Given the description of an element on the screen output the (x, y) to click on. 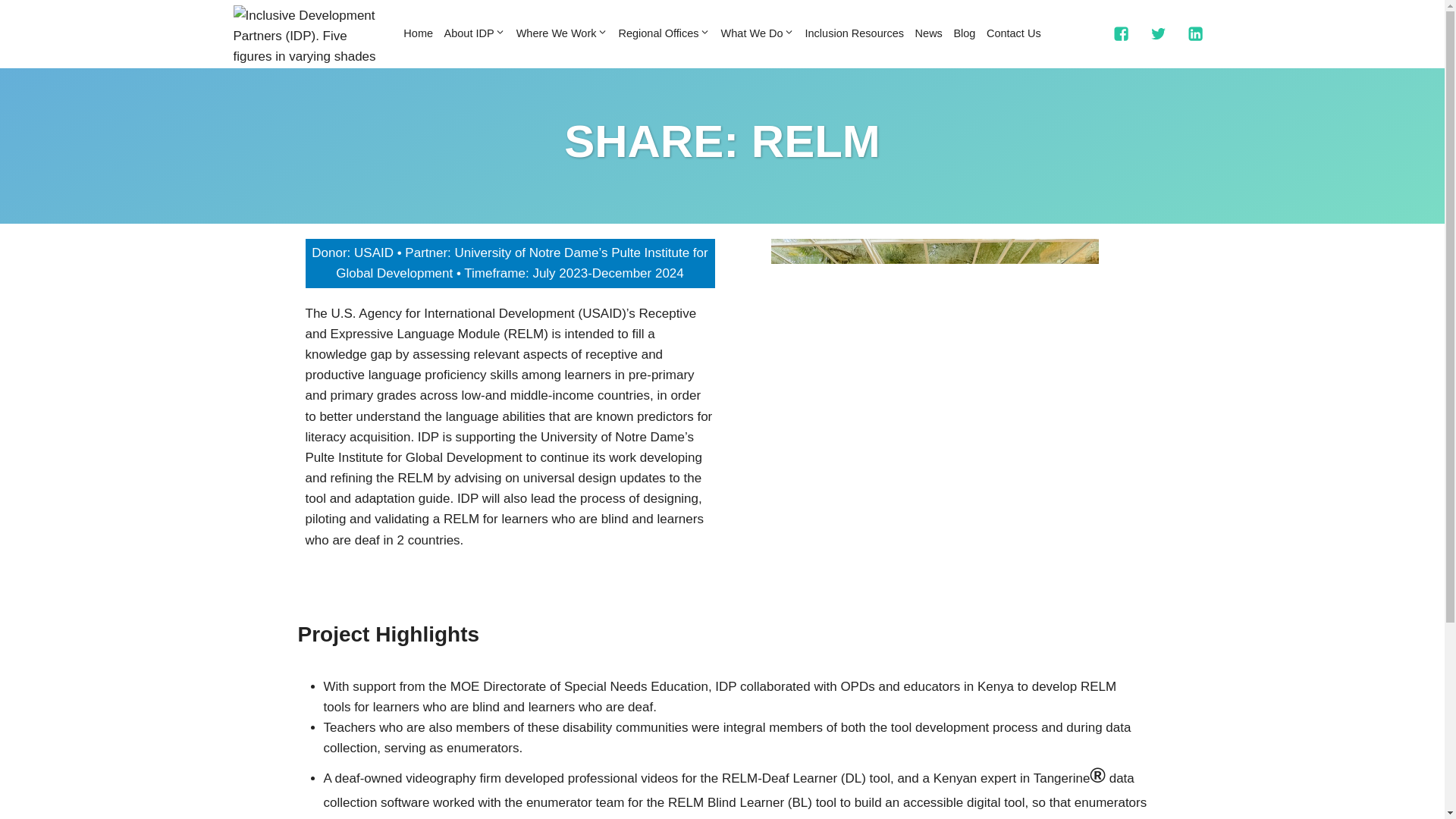
Home (417, 33)
Where We Work (561, 33)
About IDP (474, 33)
